Given the description of an element on the screen output the (x, y) to click on. 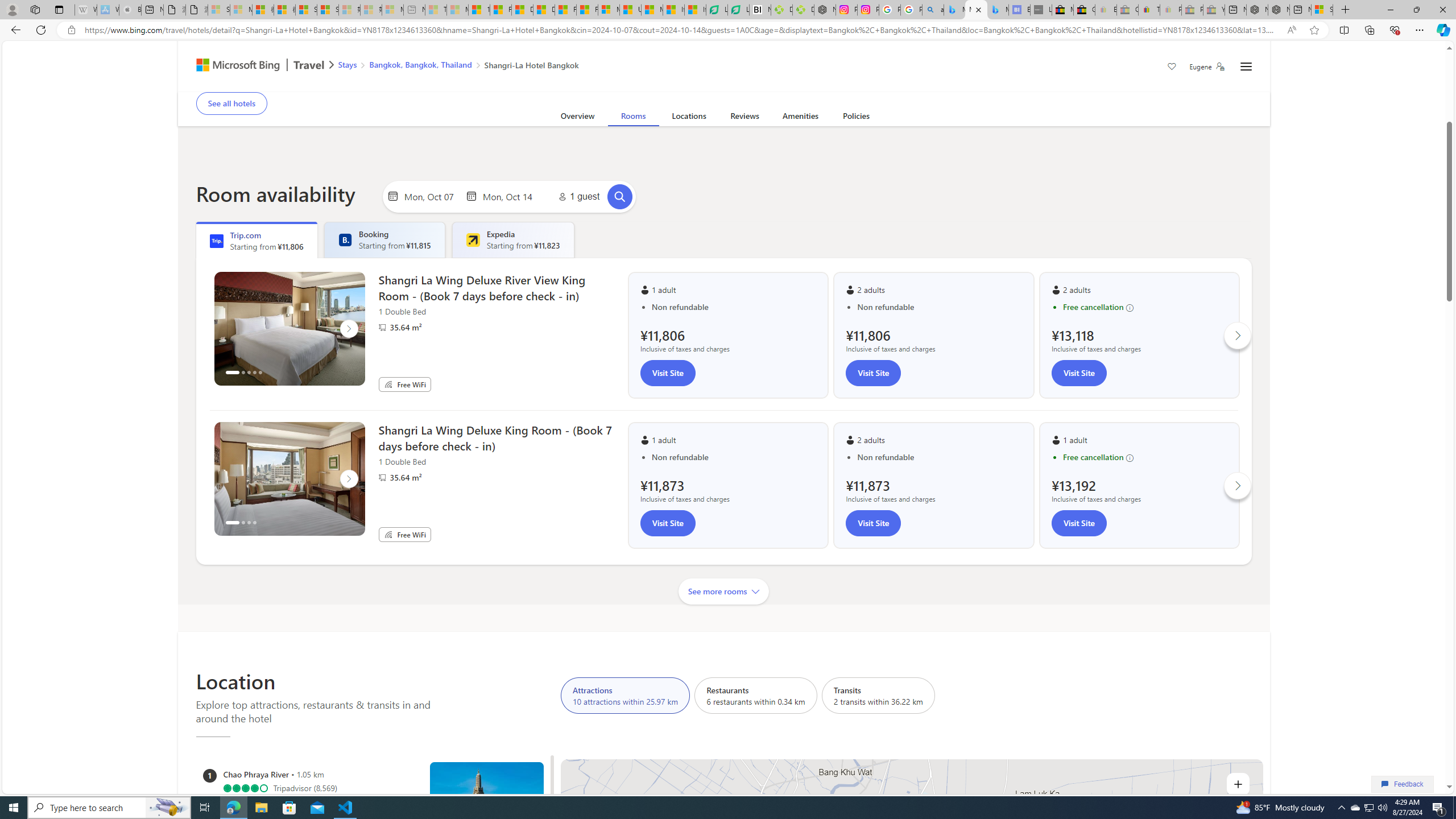
Stays (346, 64)
Attractions 10 attractions within 25.97 km (625, 695)
Microsoft Bing Travel - Shangri-La Hotel Bangkok (997, 9)
Marine life - MSN - Sleeping (457, 9)
Threats and offensive language policy | eBay (1149, 9)
Swimming pool (710, 84)
